Given the description of an element on the screen output the (x, y) to click on. 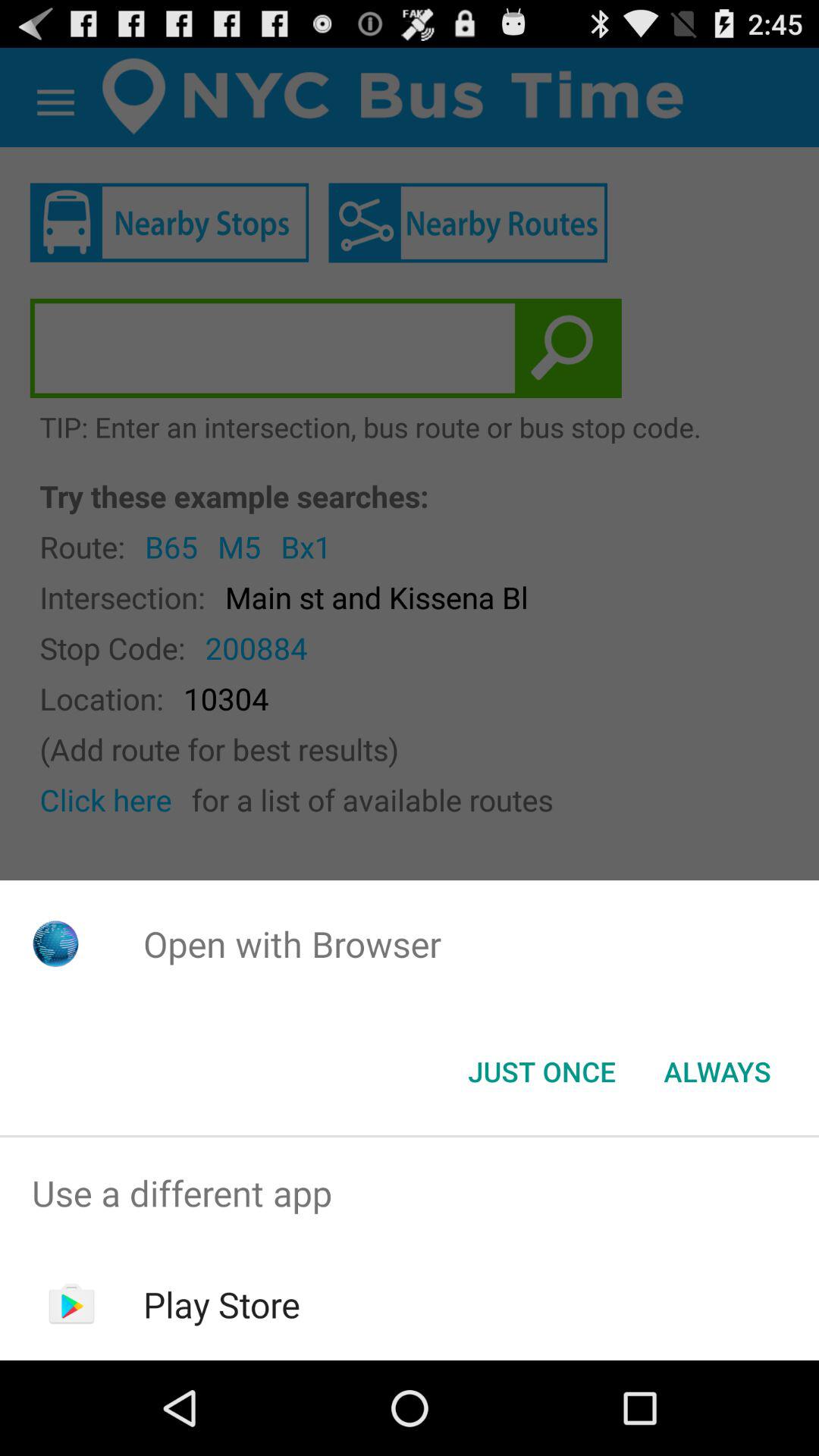
select the app below open with browser item (541, 1071)
